Given the description of an element on the screen output the (x, y) to click on. 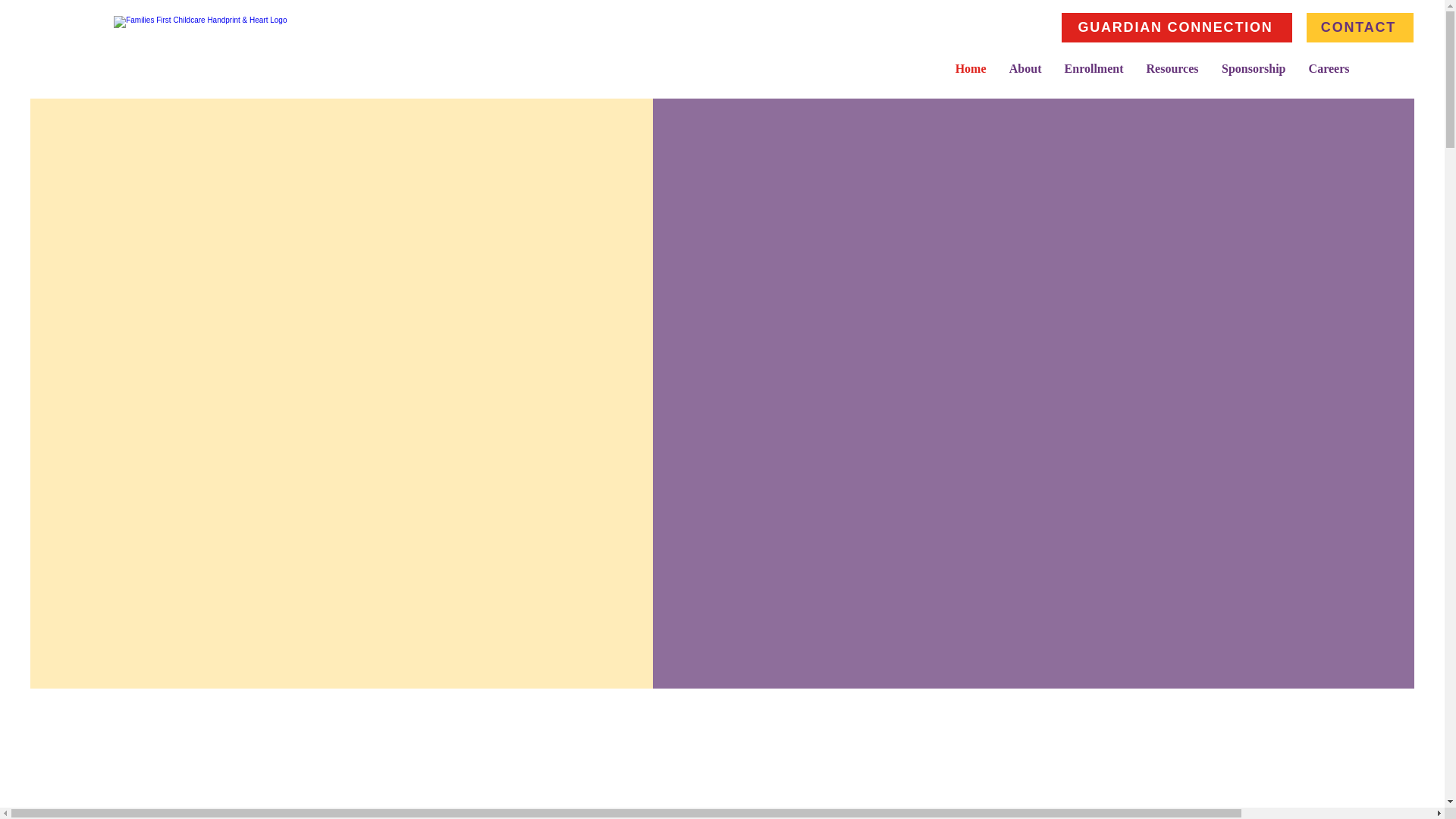
Sponsorship (1253, 68)
GUARDIAN CONNECTION (1176, 27)
Enrollment (1093, 68)
Careers (1328, 68)
About (1024, 68)
Resources (1171, 68)
CONTACT (1359, 27)
Home (970, 68)
